Given the description of an element on the screen output the (x, y) to click on. 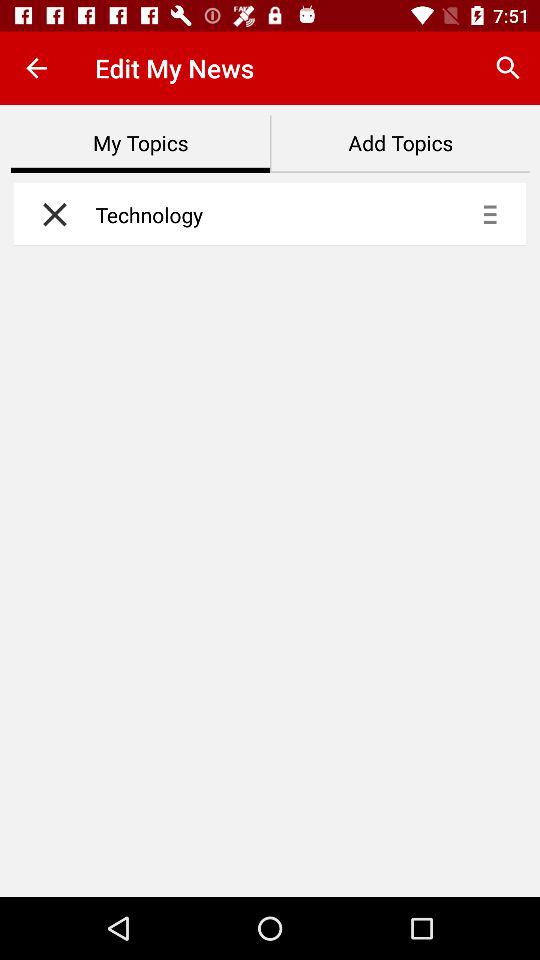
click icon below the my topics icon (49, 214)
